Given the description of an element on the screen output the (x, y) to click on. 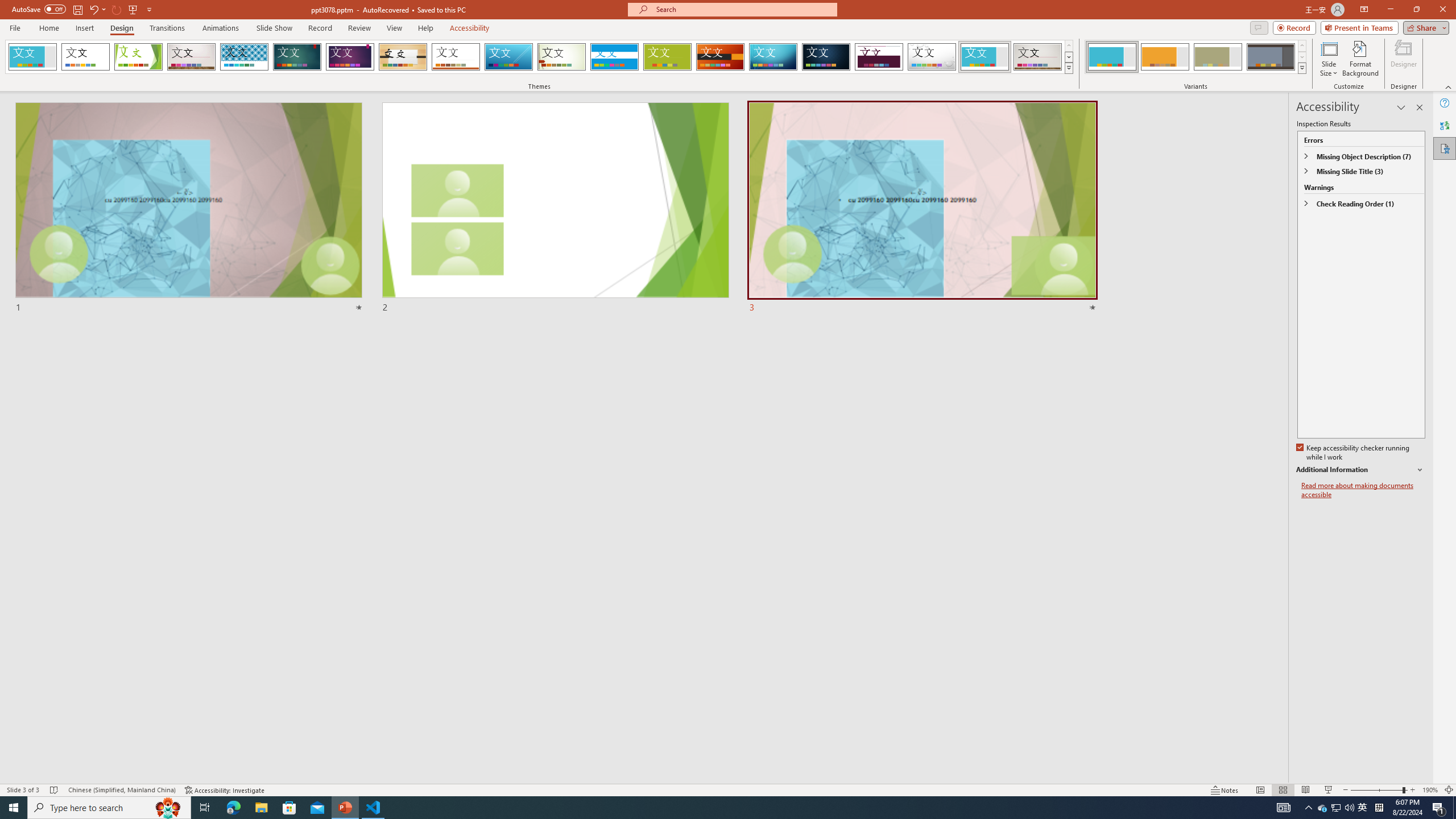
Ion (296, 56)
Additional Information (1360, 469)
Berlin (720, 56)
